Given the description of an element on the screen output the (x, y) to click on. 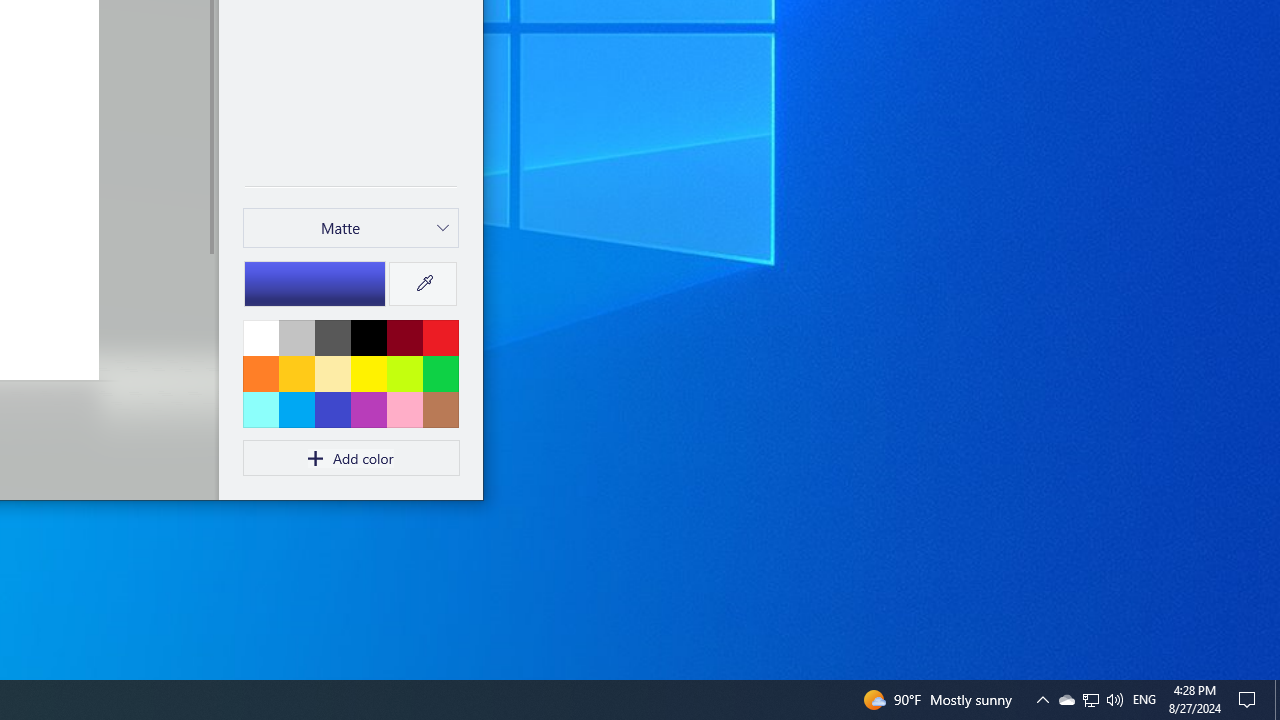
Aqua (261, 409)
Eyedropper (422, 284)
Dark grey (332, 337)
Yellow (368, 373)
Turquoise (296, 409)
Green (440, 373)
Black (368, 337)
Indigo (332, 409)
Pink (368, 409)
Light yellow (332, 373)
